Given the description of an element on the screen output the (x, y) to click on. 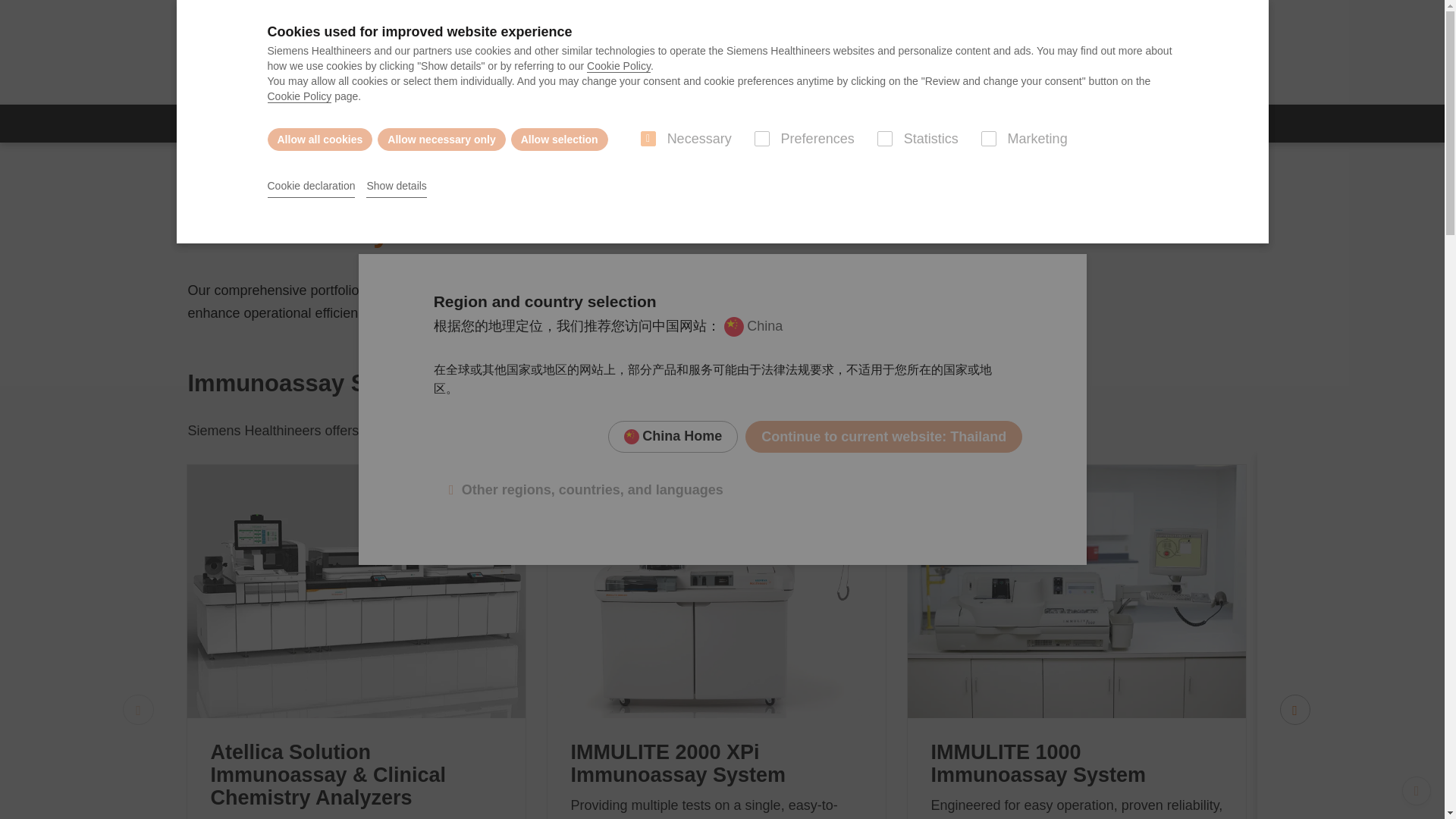
Cookie Policy (618, 65)
Allow necessary only (441, 138)
Show details (396, 186)
Allow selection (559, 138)
Cookie declaration (310, 186)
Allow all cookies (319, 138)
Cookie Policy (298, 96)
